Given the description of an element on the screen output the (x, y) to click on. 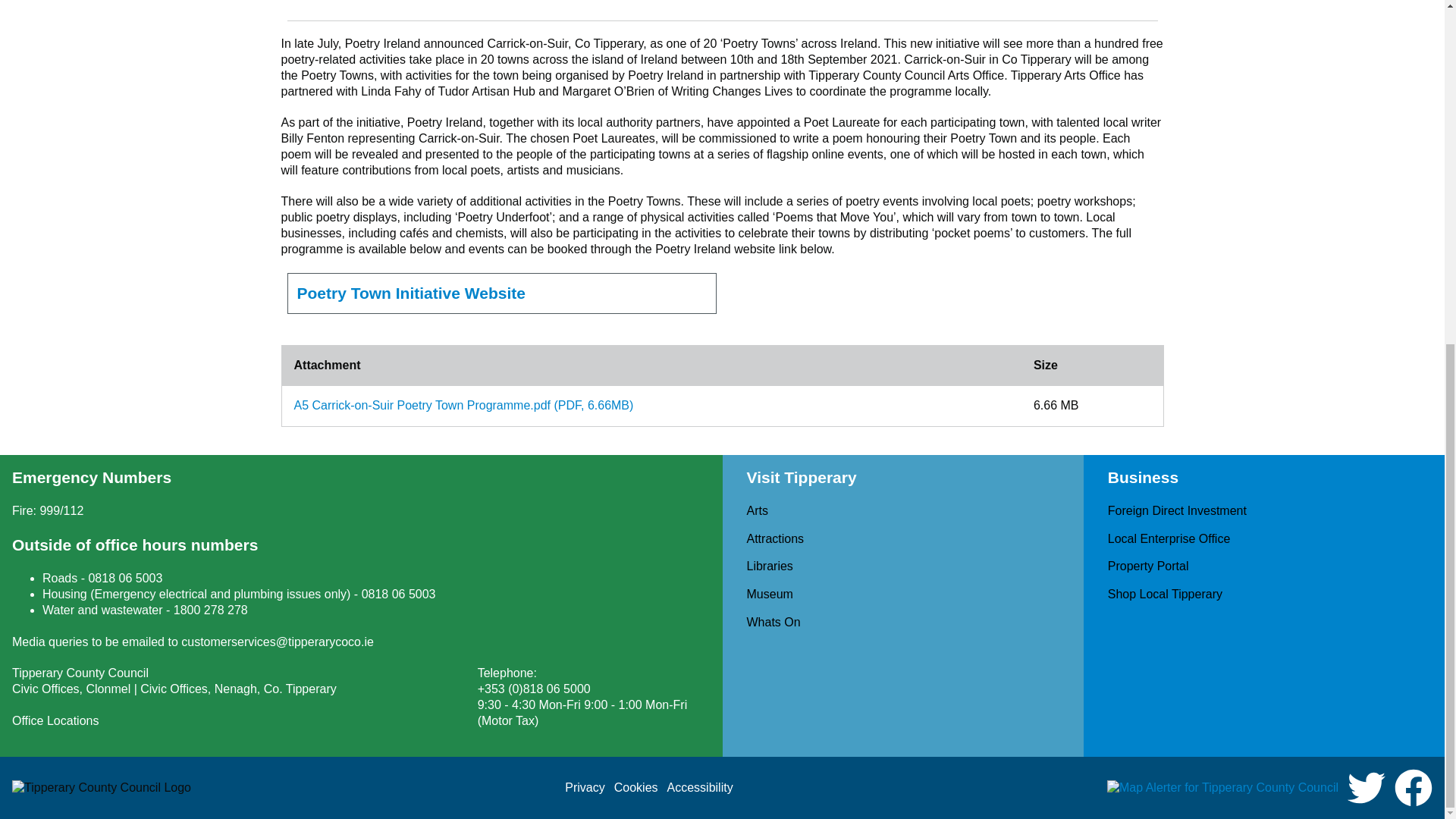
Museum (768, 594)
Shop Local Tipperary (1165, 594)
Whats On (772, 621)
Follow us on facebook (1413, 787)
Accessibility (699, 787)
Cookies (636, 787)
Follow us on Map Alerter (1222, 788)
Attractions (774, 538)
Libraries (768, 565)
Property Portal (1148, 565)
